Given the description of an element on the screen output the (x, y) to click on. 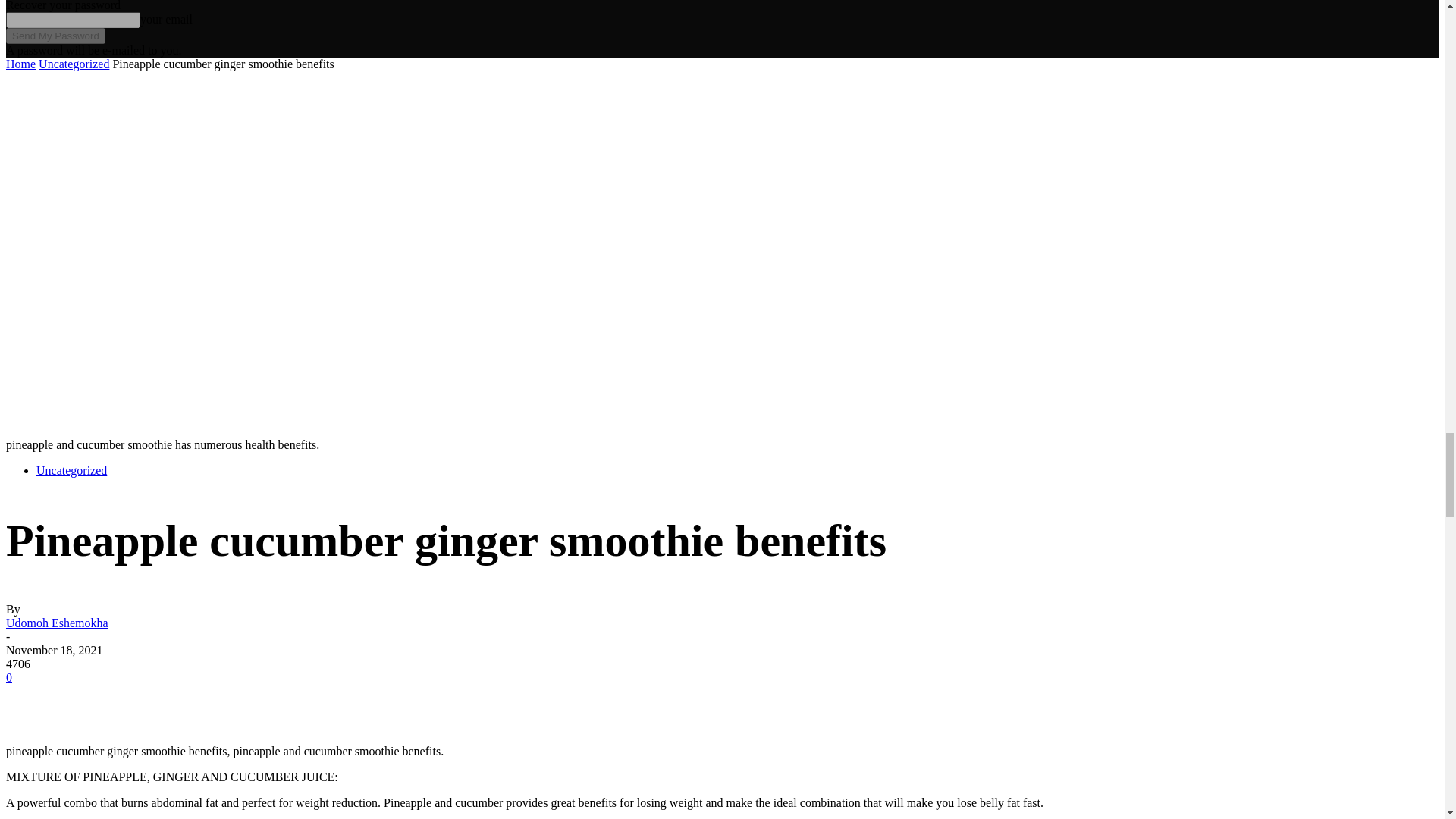
Send My Password (54, 35)
